Given the description of an element on the screen output the (x, y) to click on. 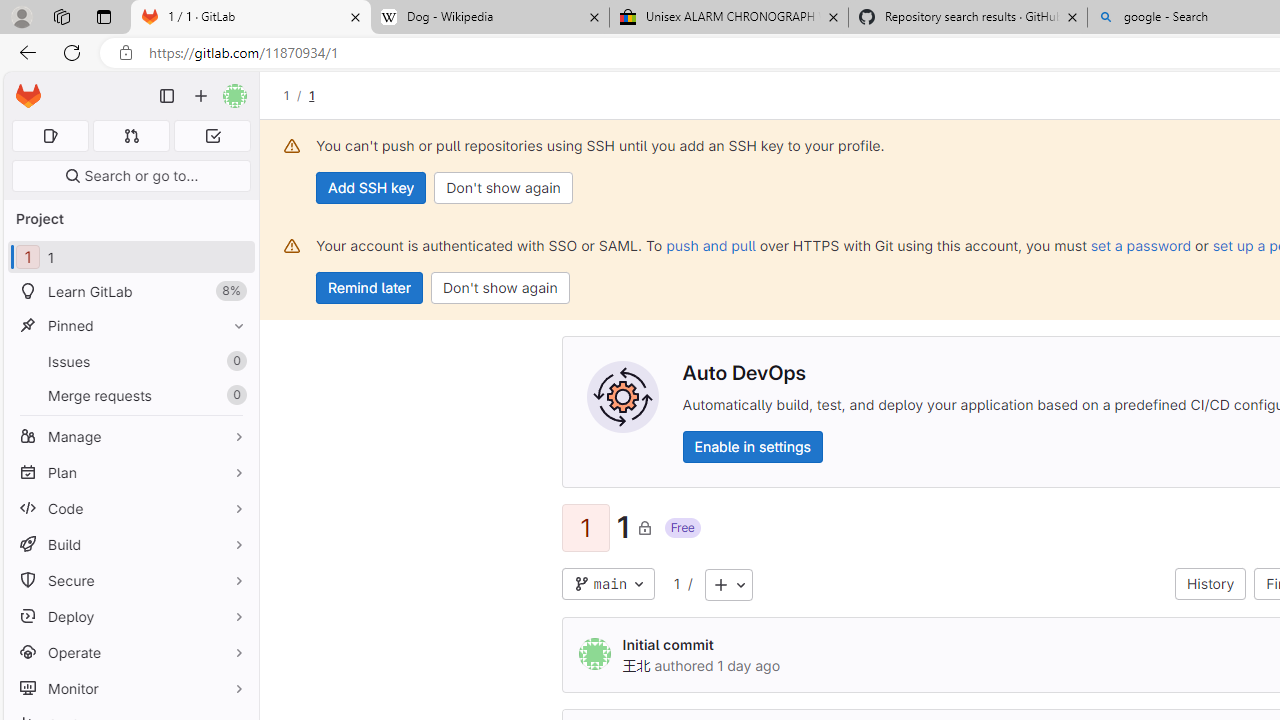
Remind later (369, 287)
Primary navigation sidebar (167, 96)
Deploy (130, 615)
Unpin Merge requests (234, 395)
Don't show again (500, 287)
1 (676, 583)
Code (130, 507)
Learn GitLab8% (130, 291)
Secure (130, 579)
